Given the description of an element on the screen output the (x, y) to click on. 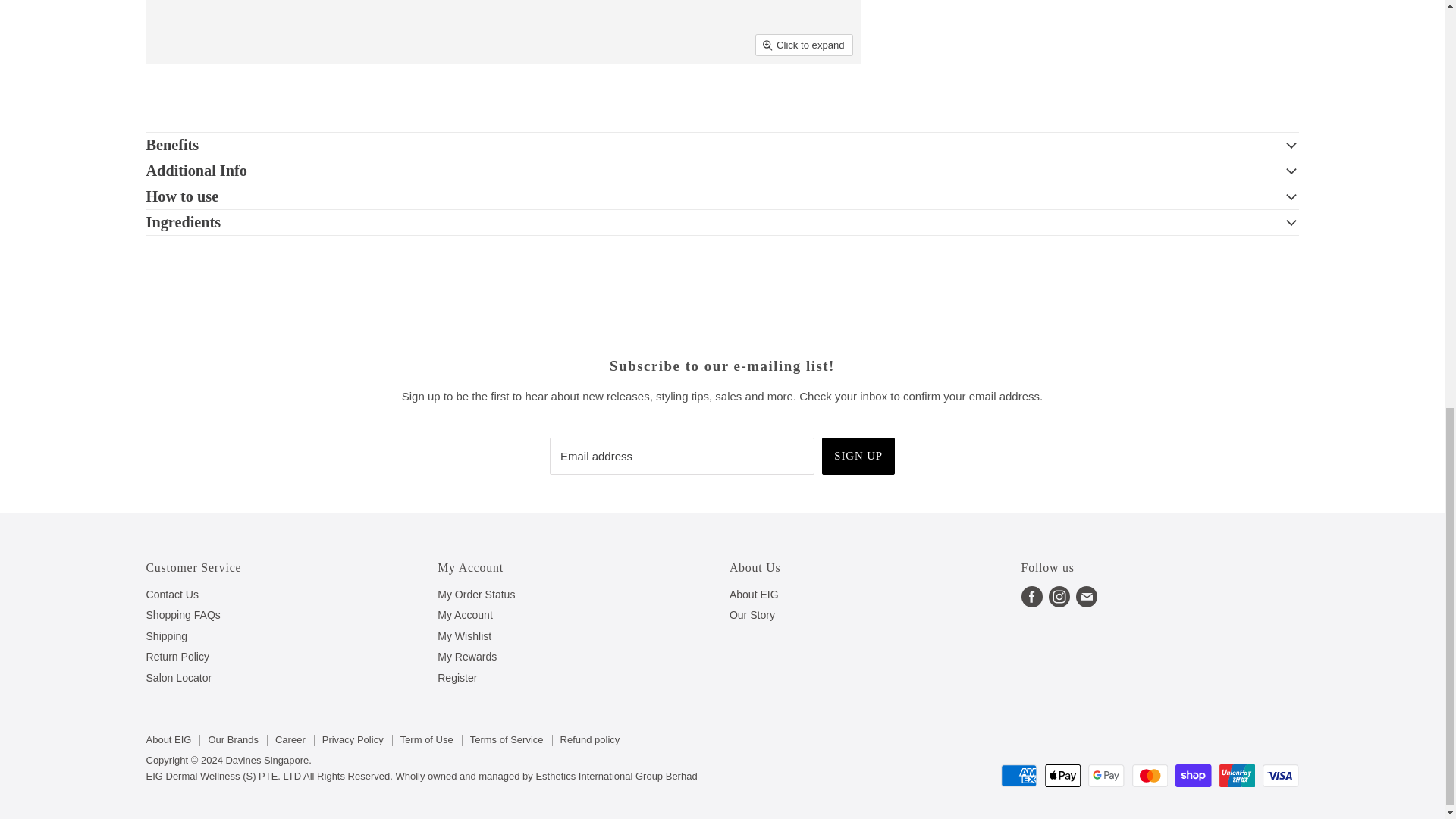
E-mail (1086, 596)
Facebook (1031, 596)
Instagram (1059, 596)
